Given the description of an element on the screen output the (x, y) to click on. 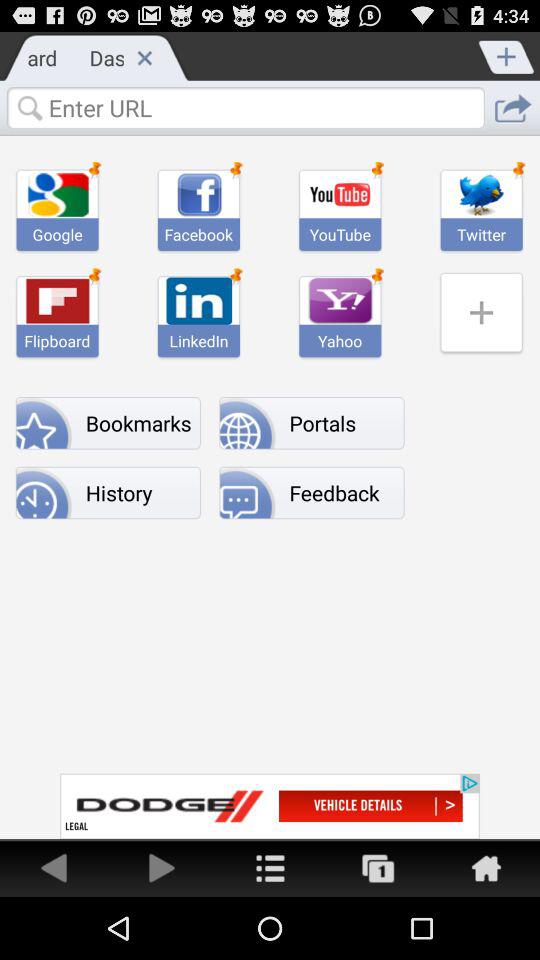
go back (54, 867)
